Given the description of an element on the screen output the (x, y) to click on. 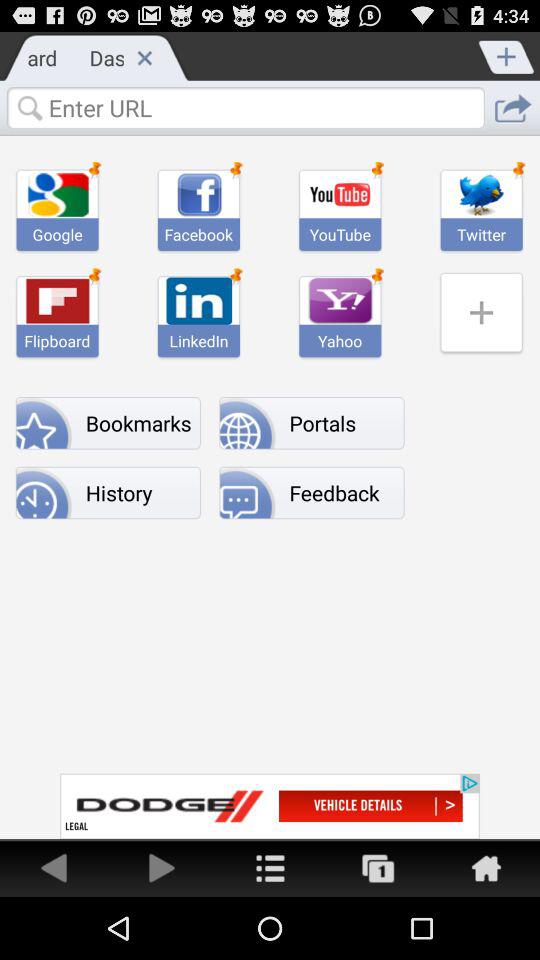
go back (54, 867)
